Given the description of an element on the screen output the (x, y) to click on. 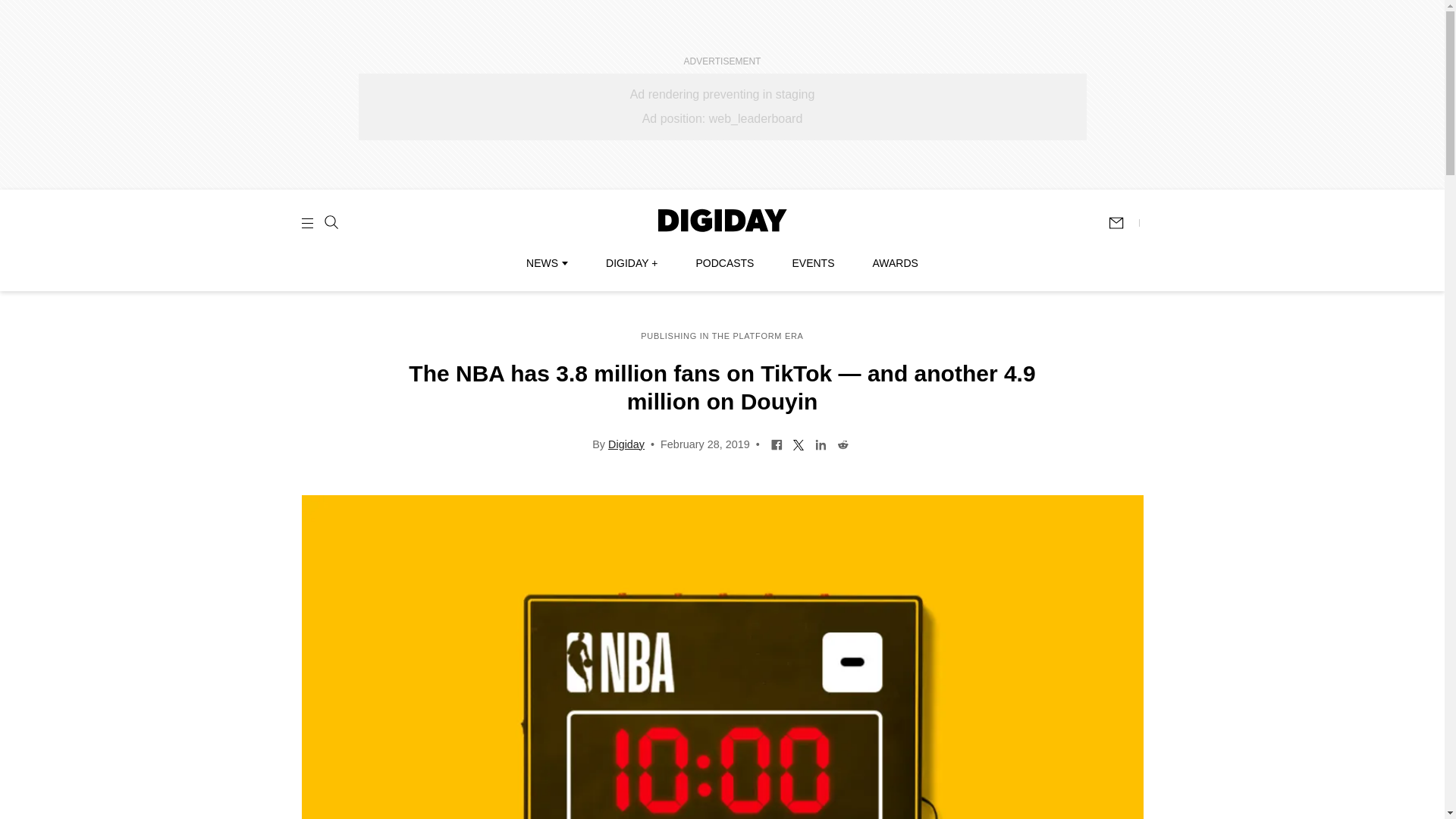
Share on Reddit (841, 443)
Share on LinkedIn (820, 443)
PODCASTS (725, 262)
Share on Twitter (798, 443)
EVENTS (813, 262)
AWARDS (894, 262)
NEWS (546, 262)
Subscribe (1123, 223)
Share on Facebook (776, 443)
